Given the description of an element on the screen output the (x, y) to click on. 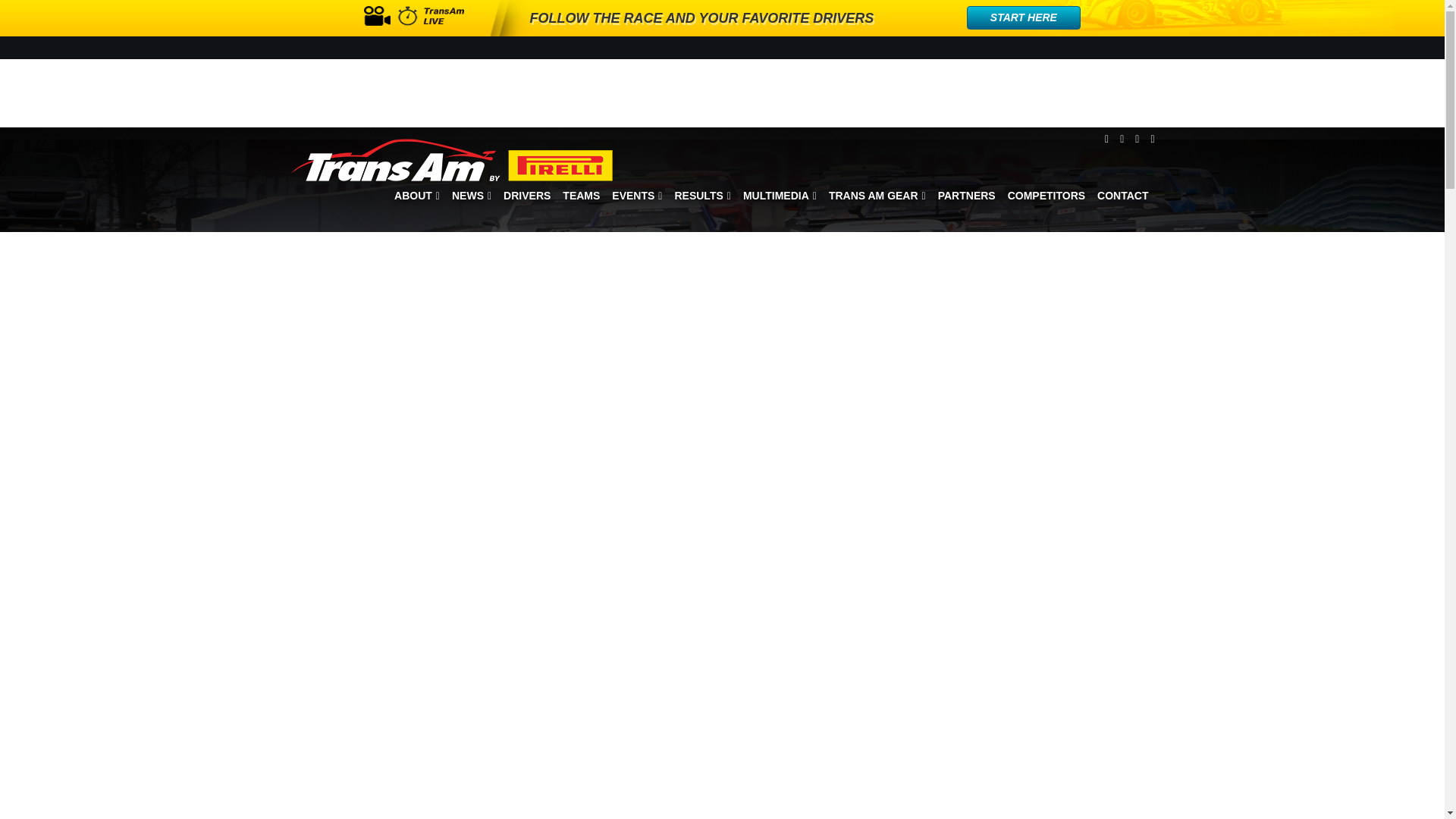
PARTNERS (966, 195)
CONTACT (1122, 195)
RESULTS (702, 195)
COMPETITORS (1045, 195)
MULTIMEDIA (779, 195)
START HERE (1023, 17)
TRANS AM GEAR (876, 195)
DRIVERS (526, 195)
ABOUT (416, 195)
EVENTS (636, 195)
